Given the description of an element on the screen output the (x, y) to click on. 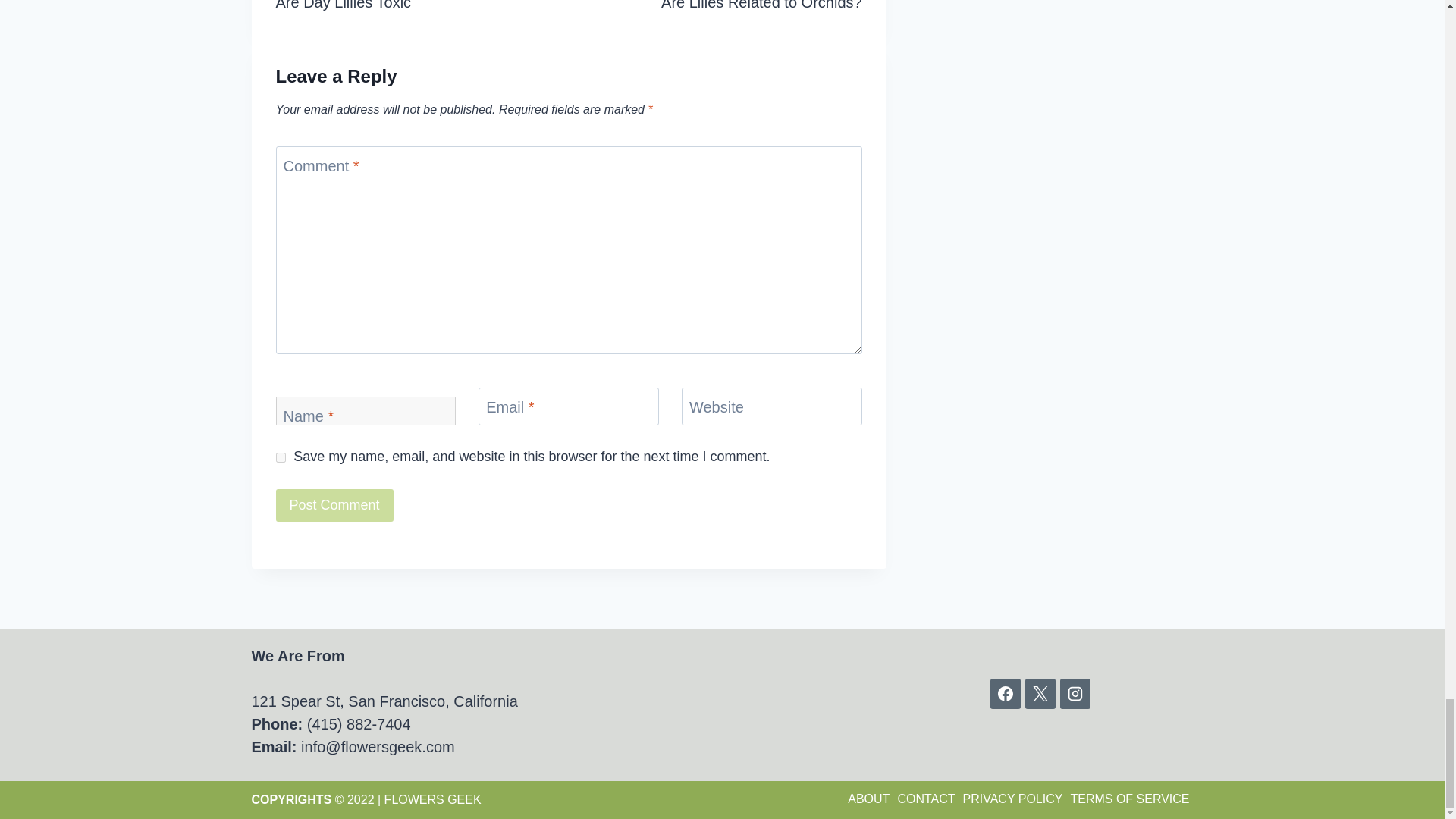
Post Comment (334, 504)
Post Comment (334, 504)
yes (280, 457)
